Given the description of an element on the screen output the (x, y) to click on. 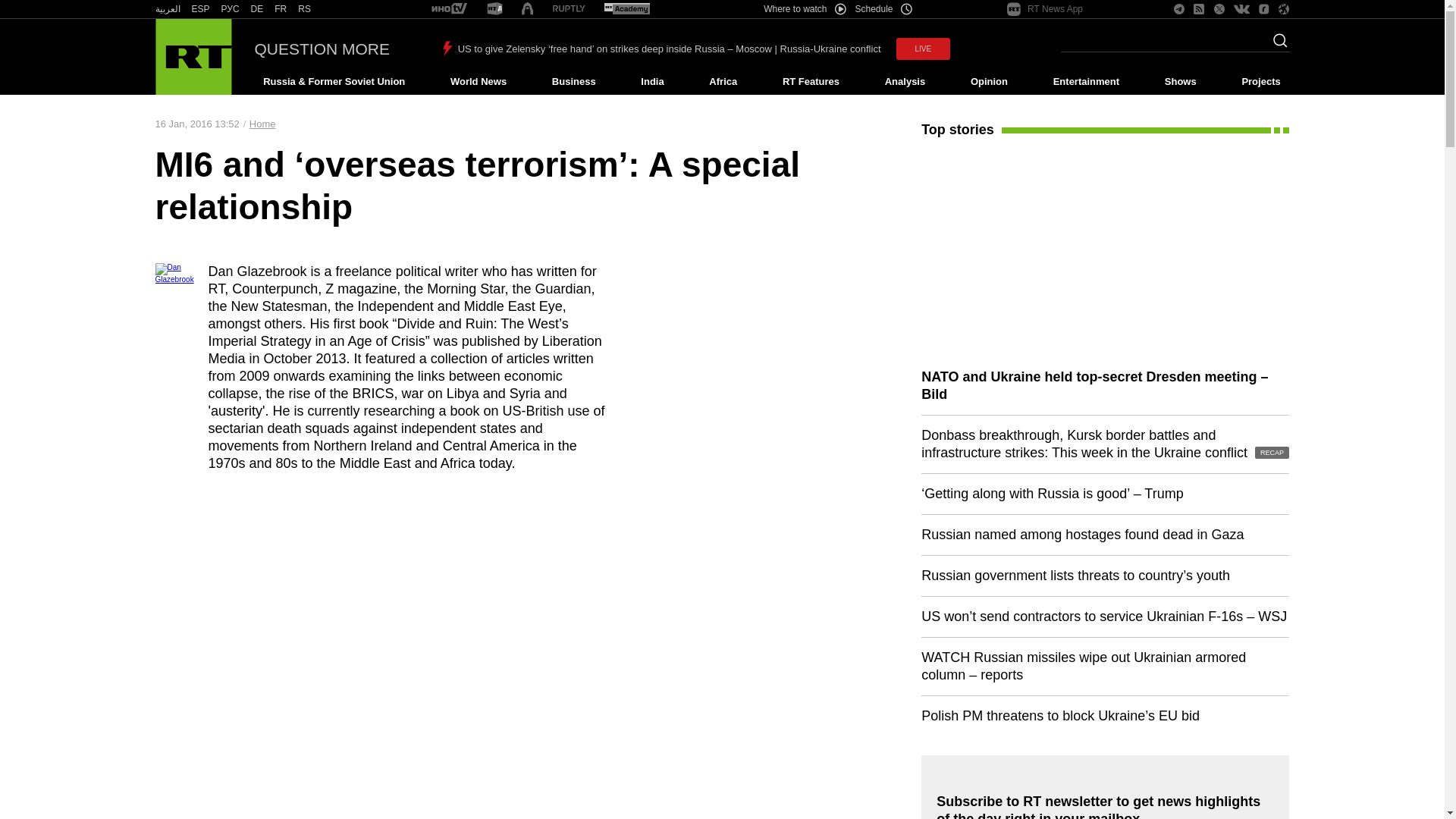
RT  (166, 9)
DE (256, 9)
Entertainment (1085, 81)
RT  (626, 9)
RT Features (810, 81)
Analysis (905, 81)
Projects (1261, 81)
RS (304, 9)
QUESTION MORE (322, 48)
FR (280, 9)
